Given the description of an element on the screen output the (x, y) to click on. 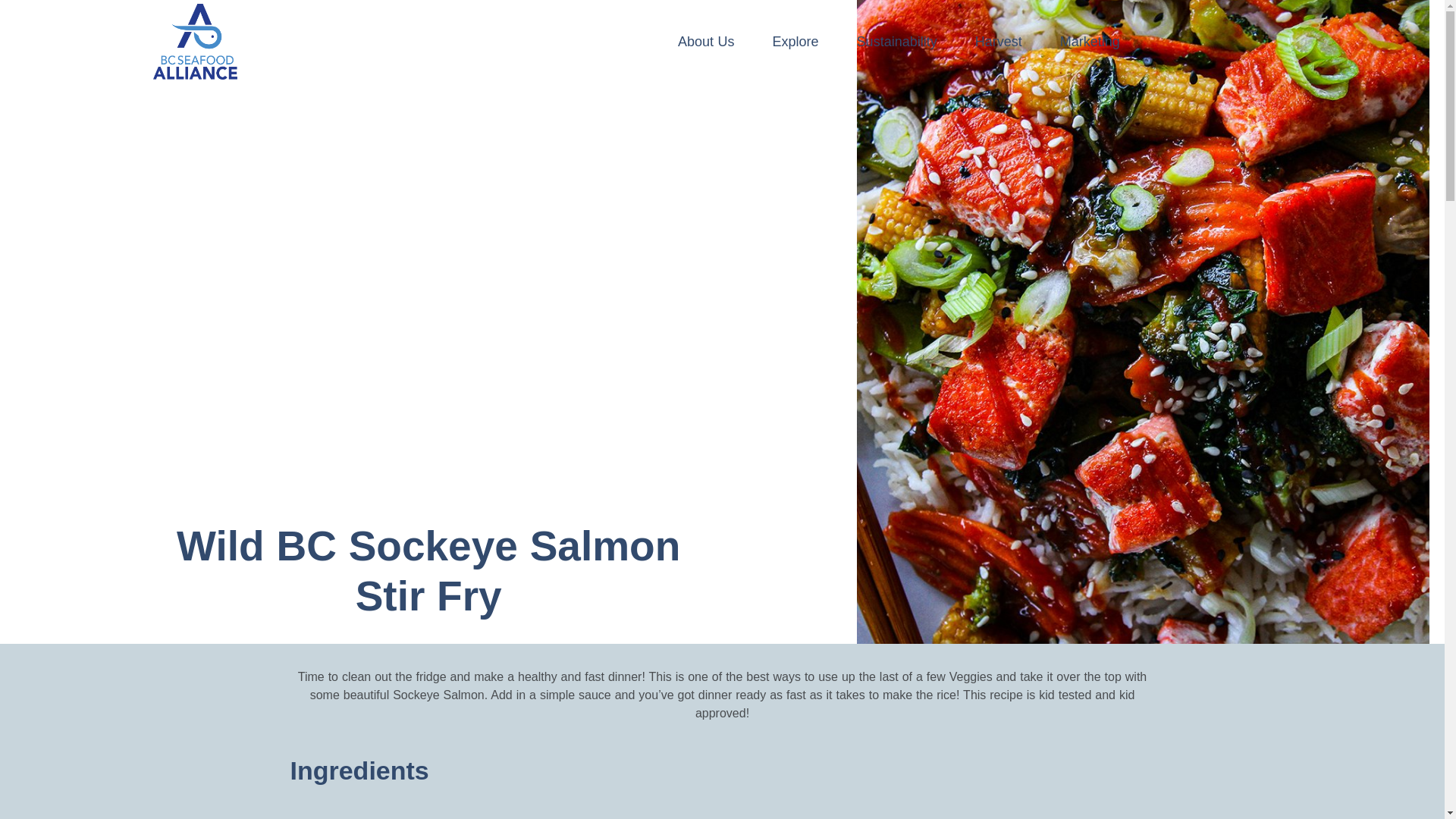
Sustainability (900, 41)
Harvest (1002, 41)
Marketing (1093, 41)
Explore (799, 41)
About Us (709, 41)
